Given the description of an element on the screen output the (x, y) to click on. 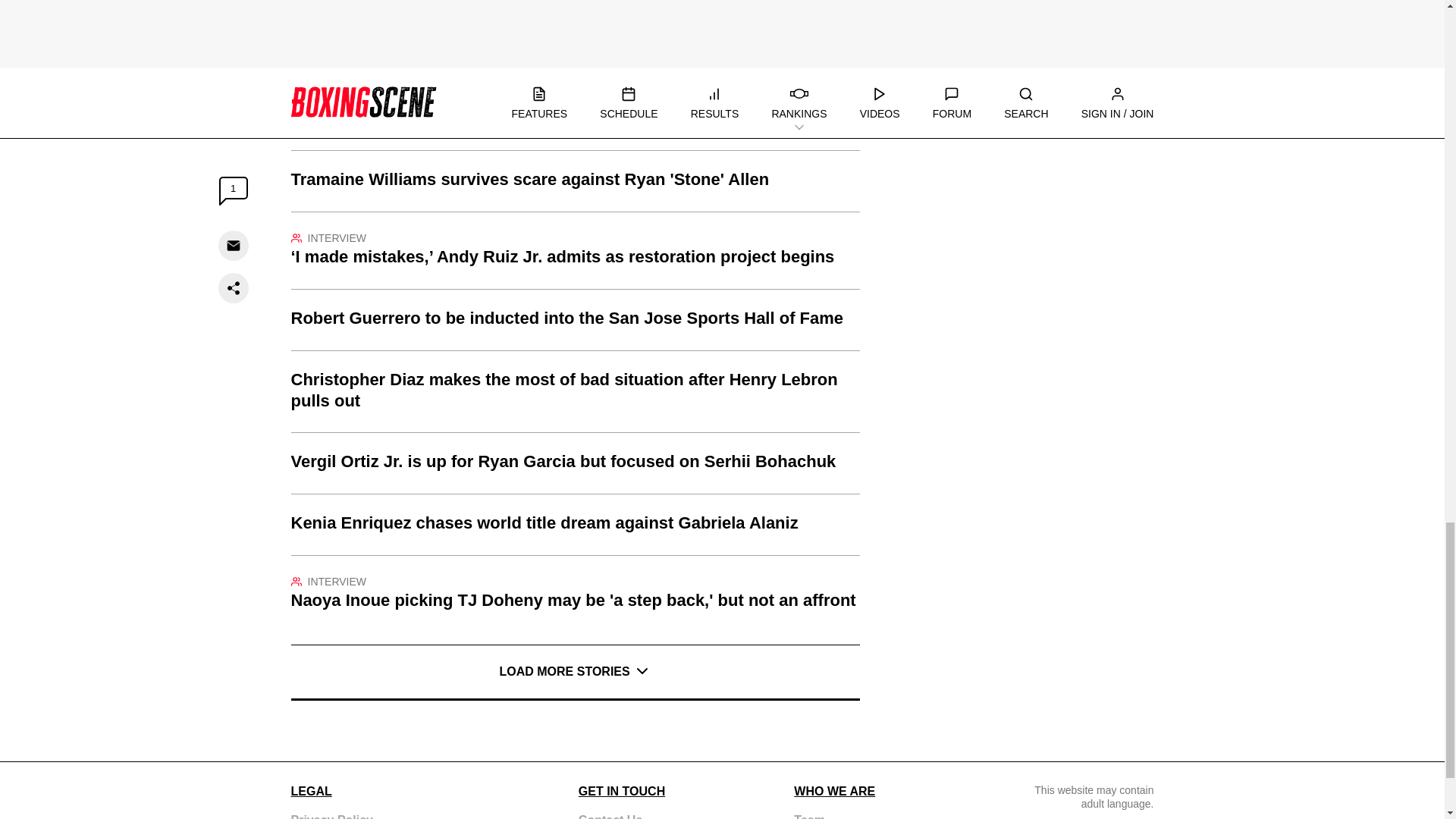
Eddie Hearn: 154 pounds a step too far for Terence Crawford (575, 117)
